Given the description of an element on the screen output the (x, y) to click on. 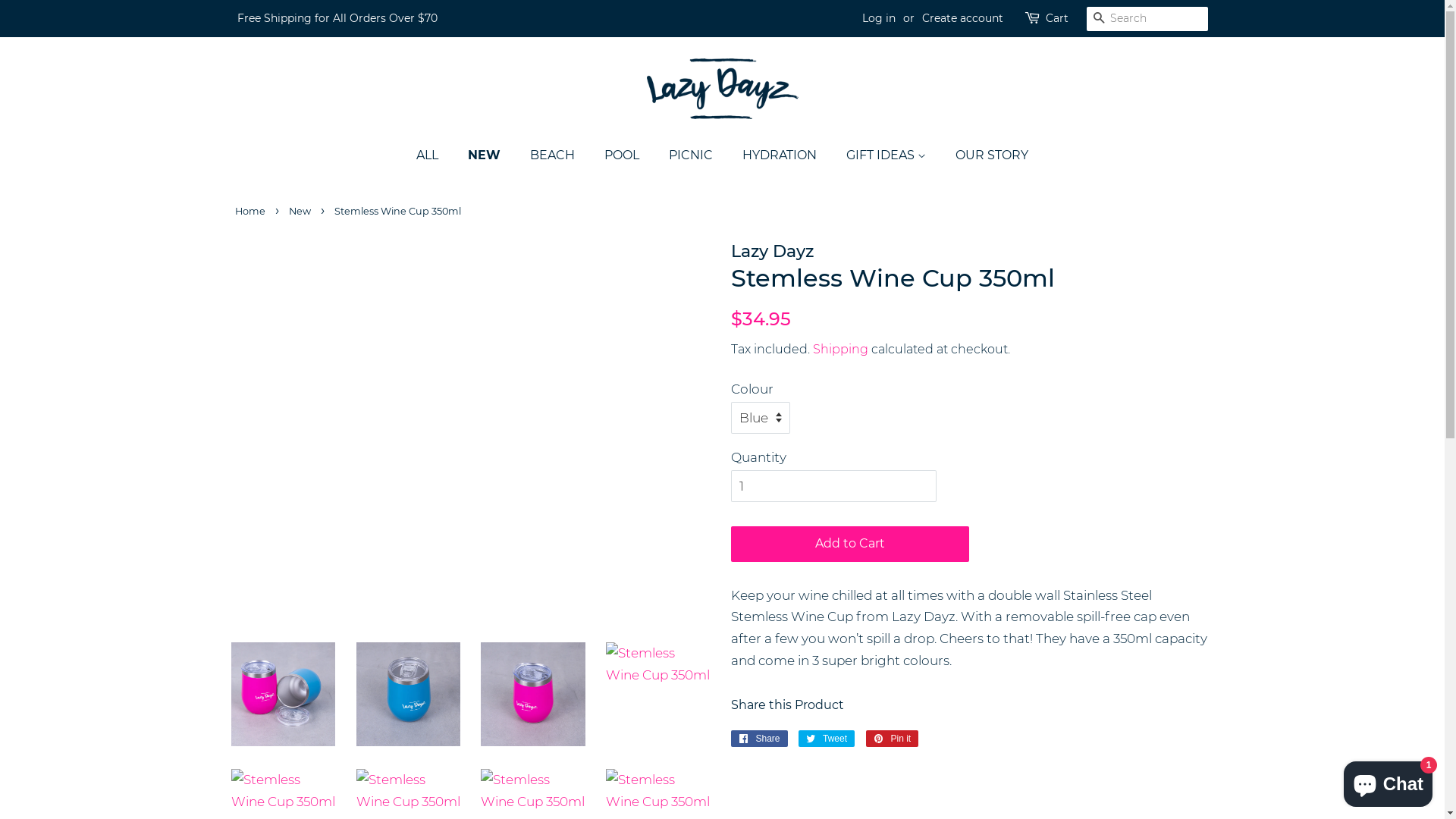
Pin it
Pin on Pinterest Element type: text (892, 738)
New Element type: text (301, 210)
NEW Element type: text (485, 154)
PICNIC Element type: text (692, 154)
Add to Cart Element type: text (850, 543)
Search Element type: text (1097, 18)
GIFT IDEAS Element type: text (887, 154)
HYDRATION Element type: text (781, 154)
Shopify online store chat Element type: hover (1388, 780)
ALL Element type: text (434, 154)
BEACH Element type: text (553, 154)
Create account Element type: text (962, 18)
Cart Element type: text (1055, 18)
Log in Element type: text (877, 18)
Shipping Element type: text (840, 348)
POOL Element type: text (623, 154)
Share
Share on Facebook Element type: text (759, 738)
Tweet
Tweet on Twitter Element type: text (826, 738)
Home Element type: text (252, 210)
OUR STORY Element type: text (986, 154)
